Given the description of an element on the screen output the (x, y) to click on. 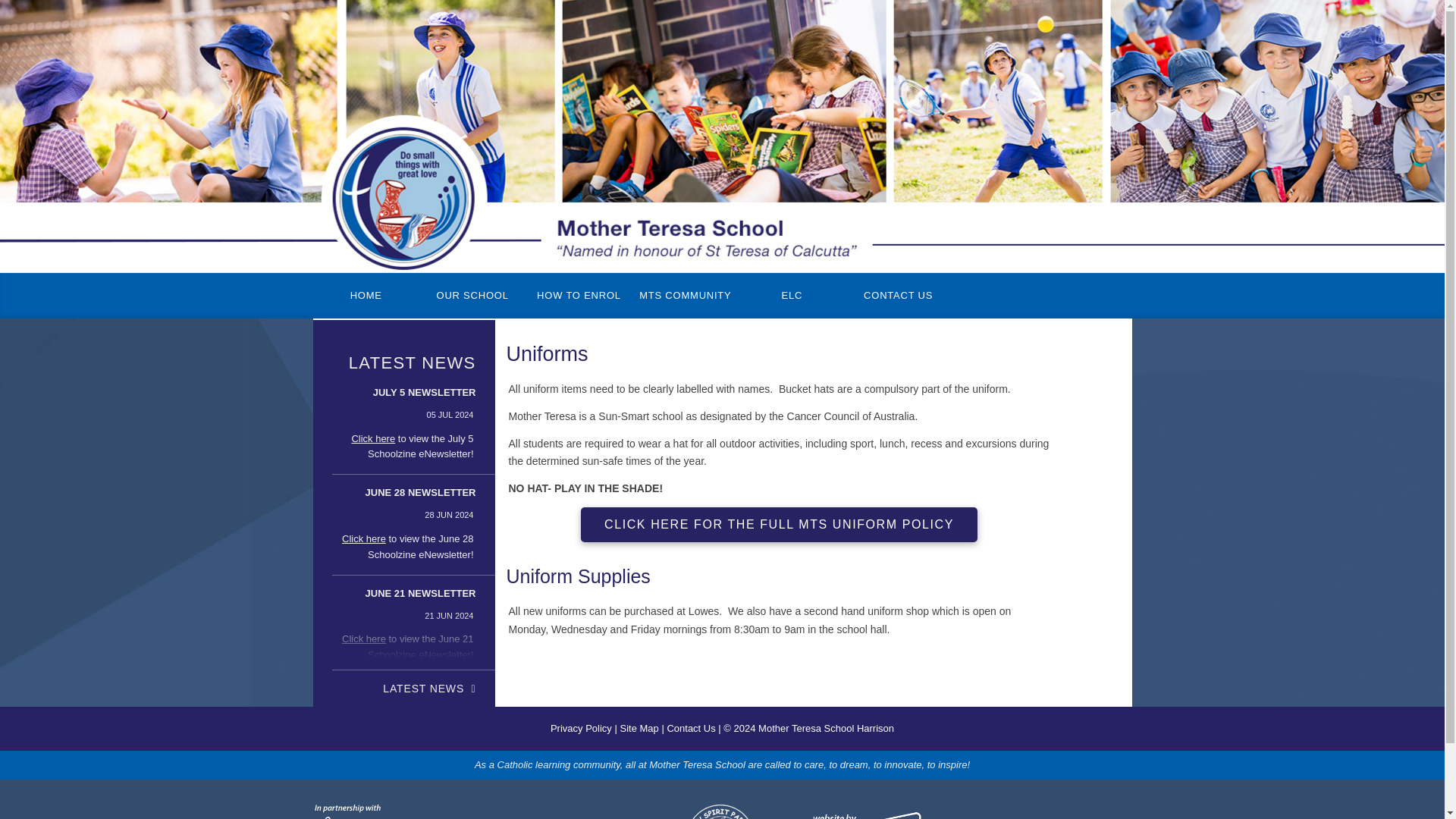
Home (366, 295)
MTS COMMUNITY (684, 295)
HOME (366, 295)
OUR SCHOOL (472, 295)
HOW TO ENROL (578, 295)
Our School (472, 295)
